Given the description of an element on the screen output the (x, y) to click on. 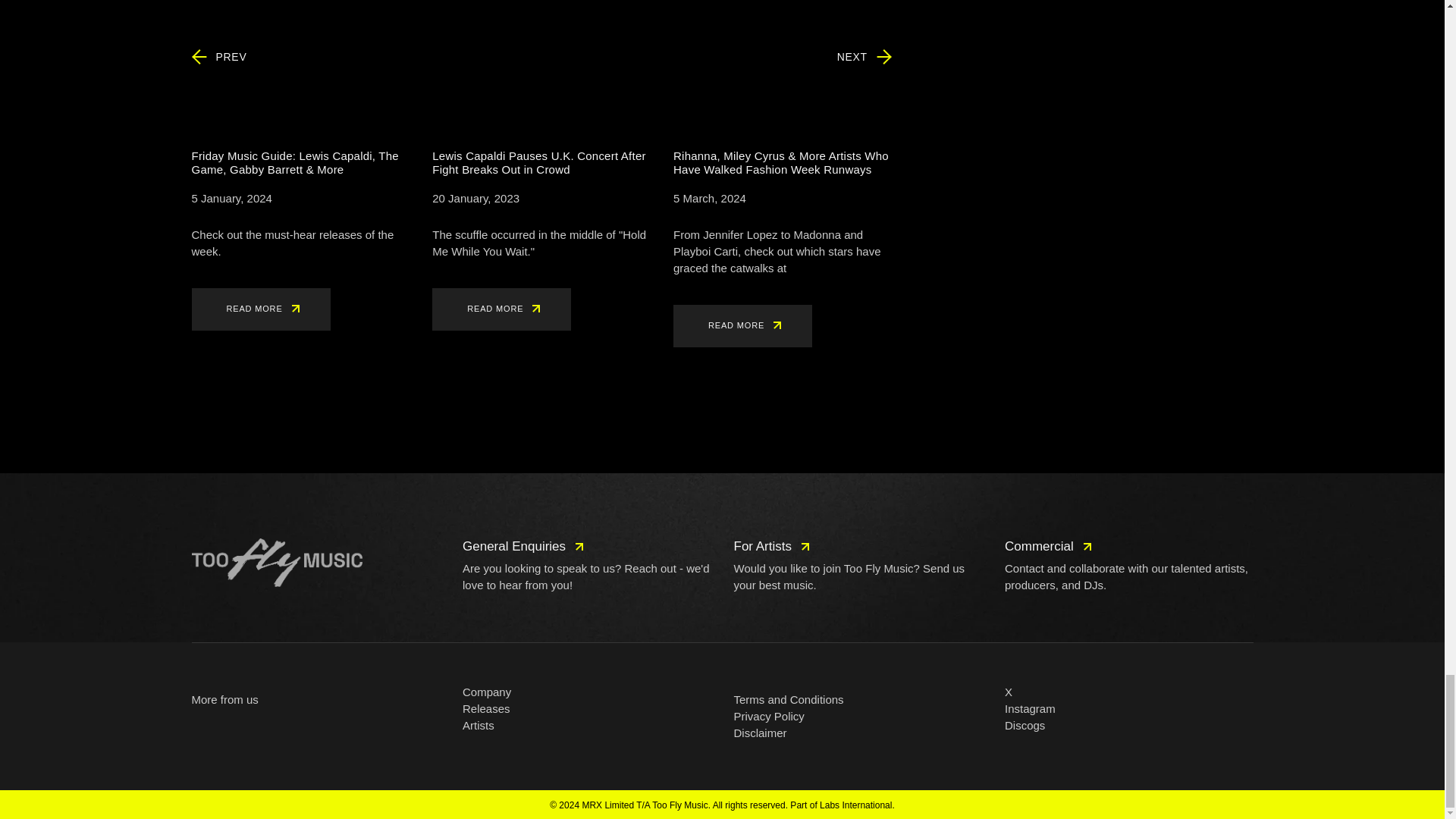
Title Text:  (230, 198)
Title Text:  (475, 198)
Title Text:  (708, 198)
